Given the description of an element on the screen output the (x, y) to click on. 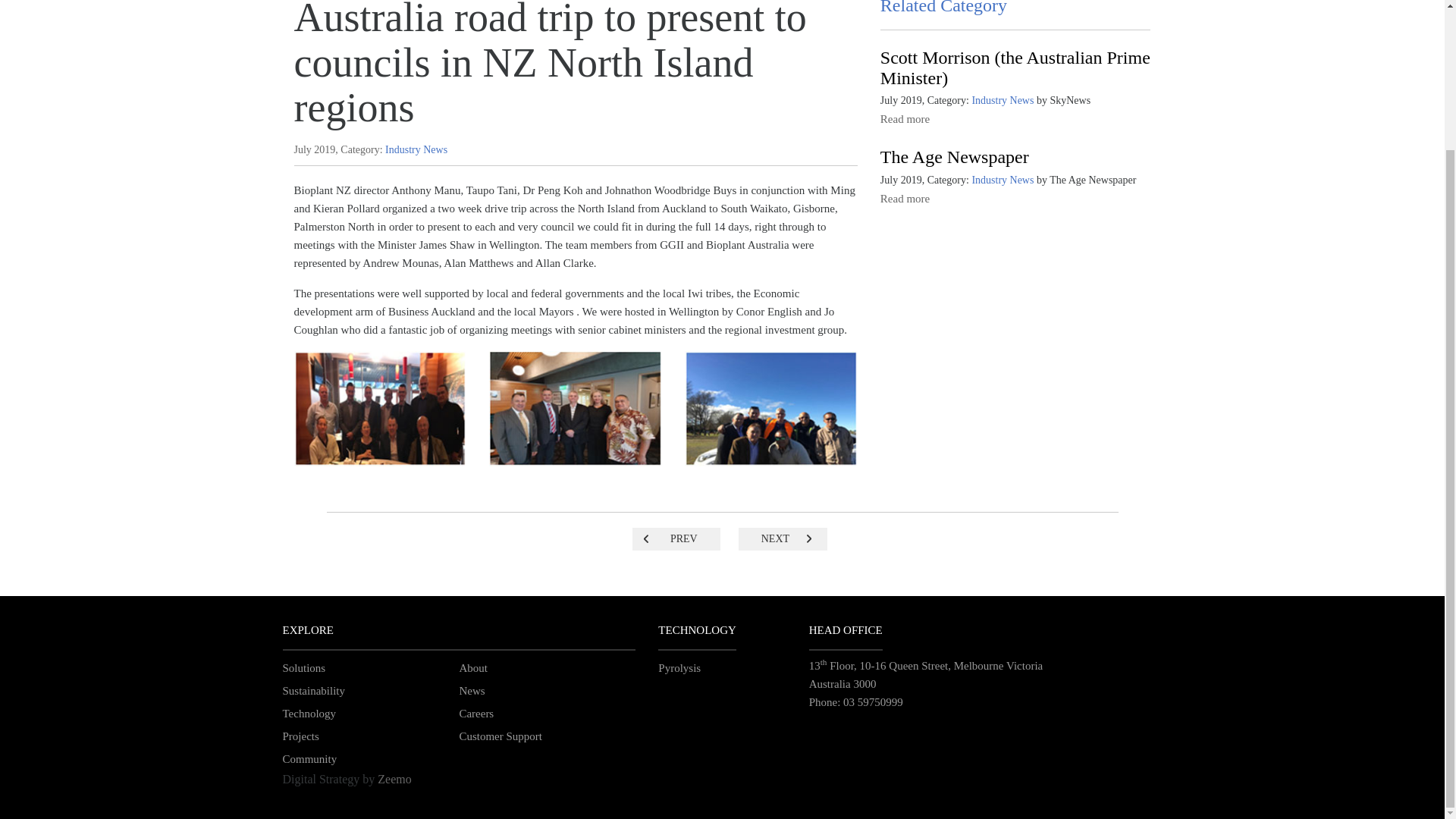
Industry News (415, 149)
PREV (675, 538)
Industry News (1002, 179)
Read more (905, 119)
The Age Newspaper (954, 157)
PREV (675, 538)
The Age Newspaper (954, 157)
Industry News (1002, 100)
Read more (905, 119)
Industry News (415, 149)
